Given the description of an element on the screen output the (x, y) to click on. 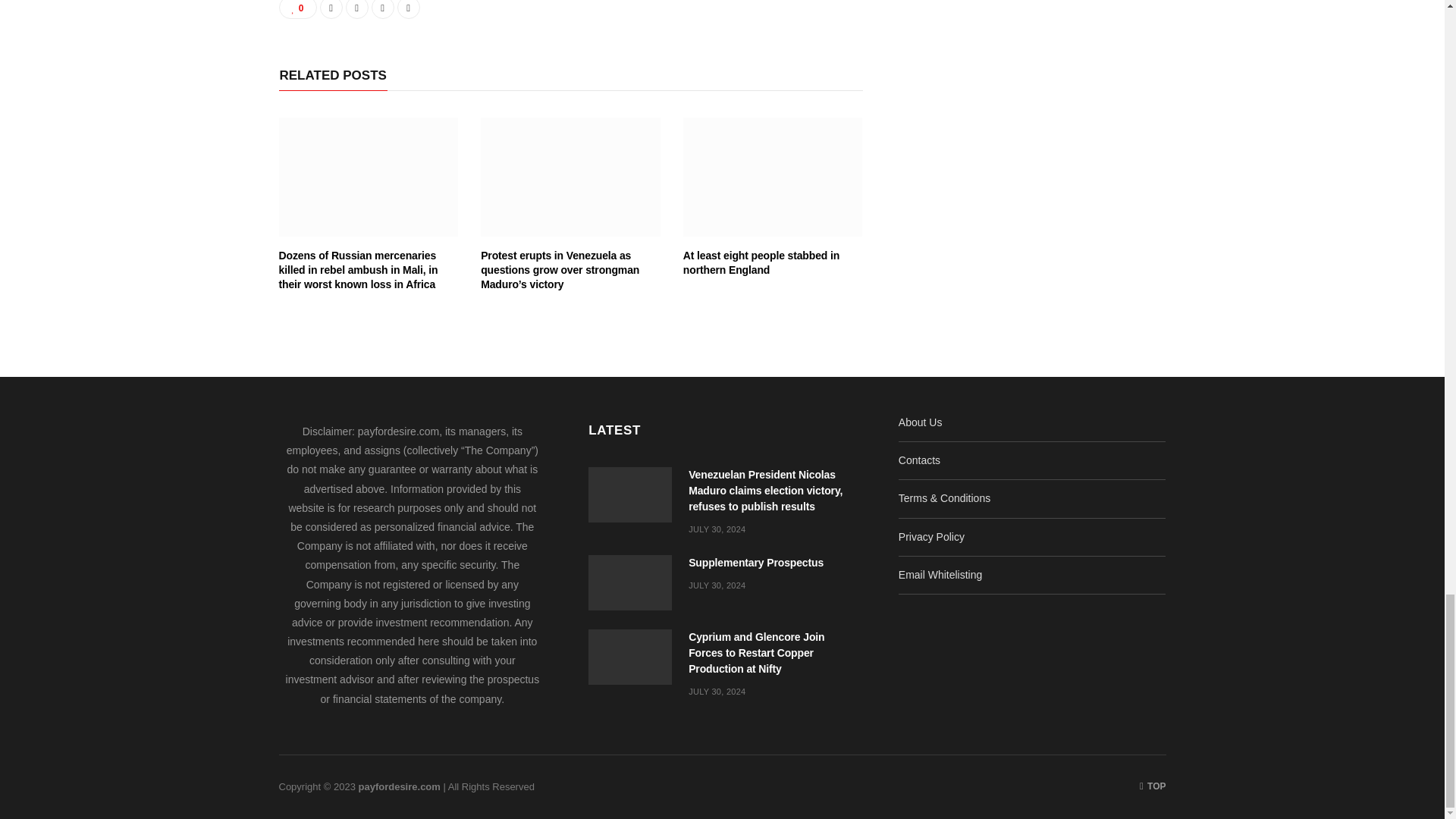
0 (298, 9)
